Given the description of an element on the screen output the (x, y) to click on. 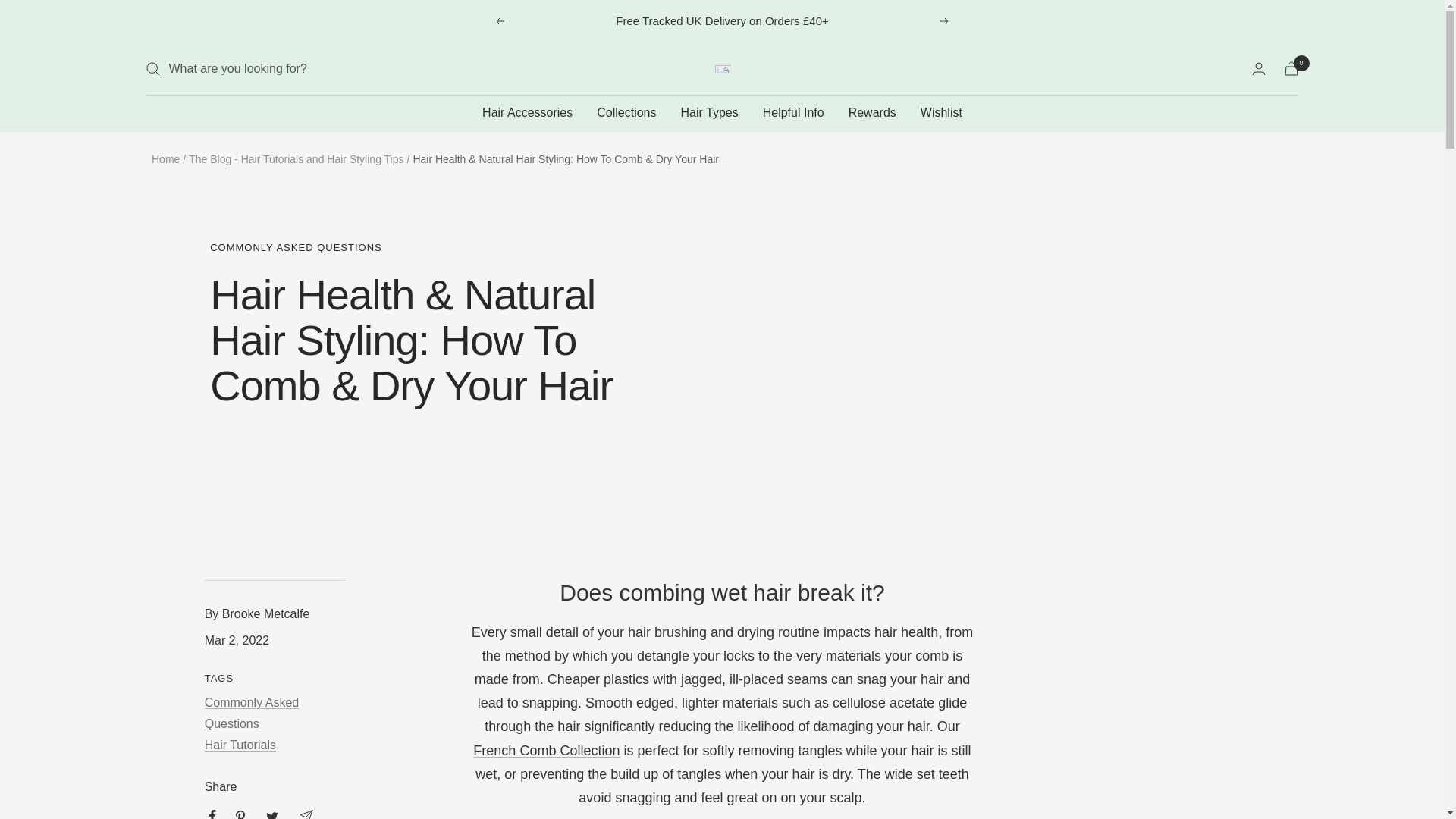
Hair Types (709, 112)
Home (165, 159)
Previous (499, 21)
Wishlist (941, 112)
Rewards (872, 112)
0 (1290, 68)
French Comb Collection (546, 750)
French Comb Collection (546, 750)
Collections (626, 112)
Next (944, 21)
